Given the description of an element on the screen output the (x, y) to click on. 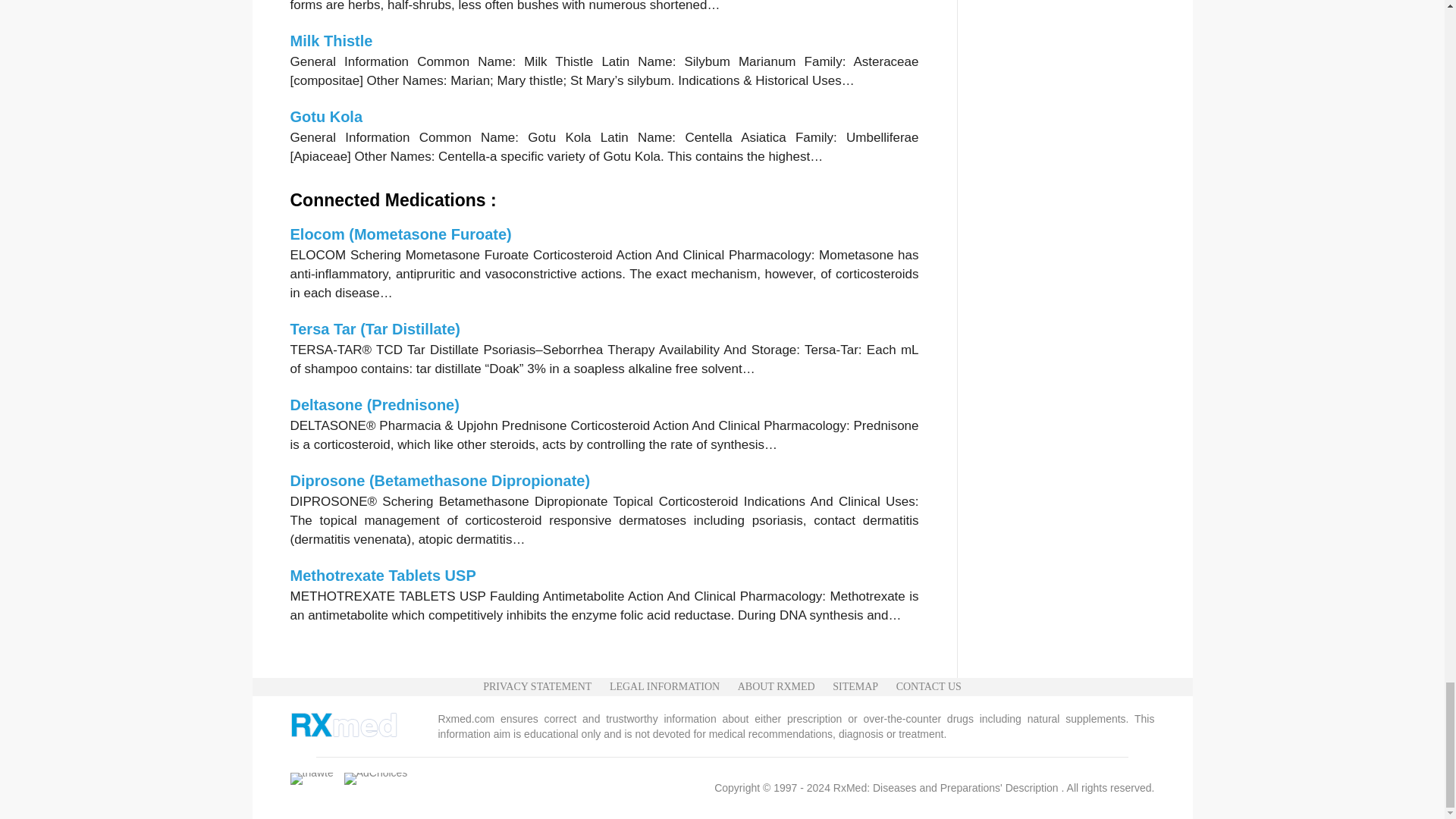
PRIVACY STATEMENT (537, 687)
Methotrexate Tablets USP (382, 575)
SITEMAP (855, 687)
CONTACT US (928, 687)
Gotu Kola (325, 116)
LEGAL INFORMATION (664, 687)
Gotu Kola (325, 116)
Methotrexate Tablets USP (382, 575)
Milk Thistle (330, 40)
Milk Thistle (330, 40)
ABOUT RXMED (776, 687)
